Given the description of an element on the screen output the (x, y) to click on. 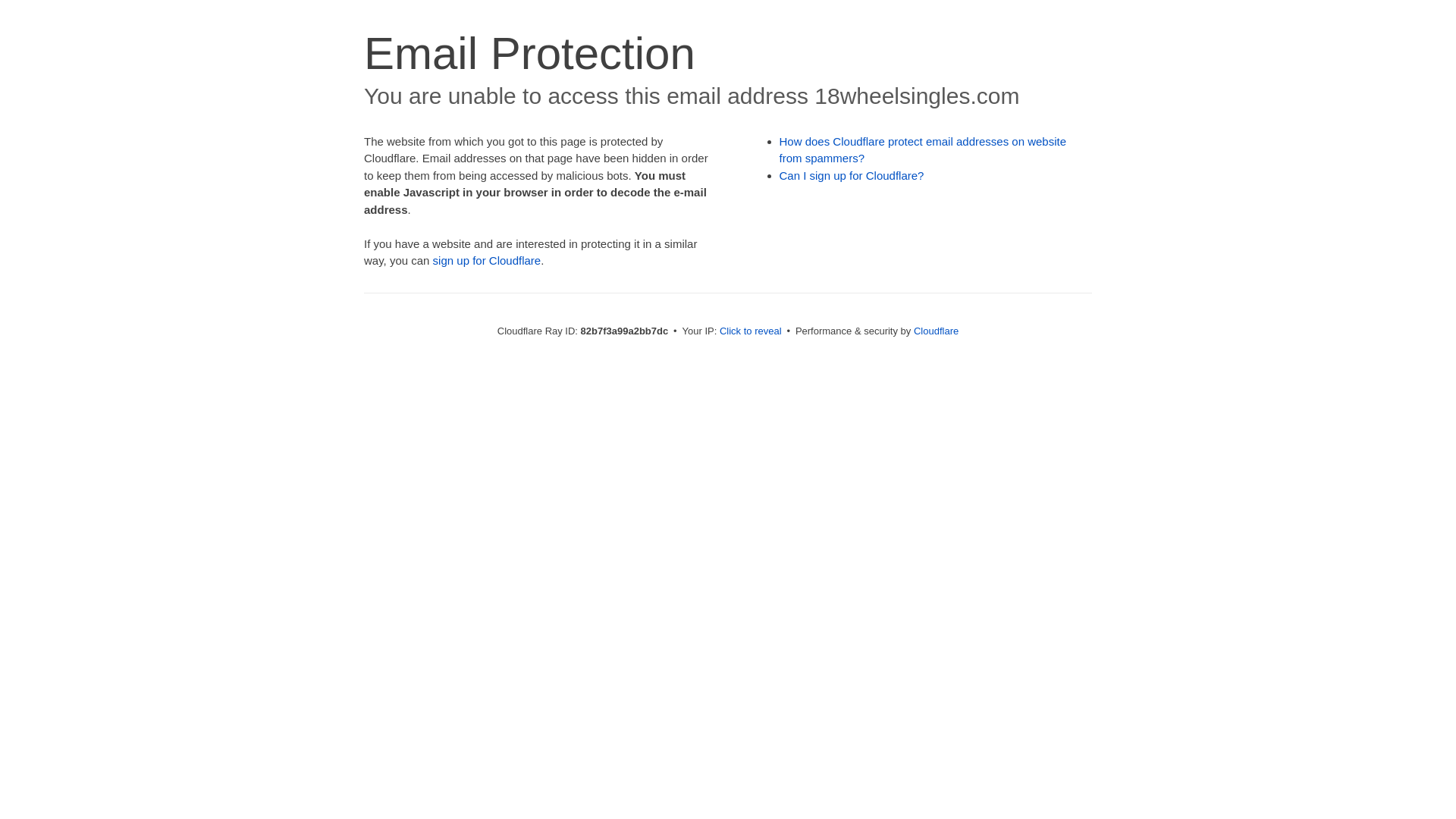
sign up for Cloudflare Element type: text (487, 260)
Click to reveal Element type: text (750, 330)
Cloudflare Element type: text (935, 330)
Can I sign up for Cloudflare? Element type: text (851, 175)
